Given the description of an element on the screen output the (x, y) to click on. 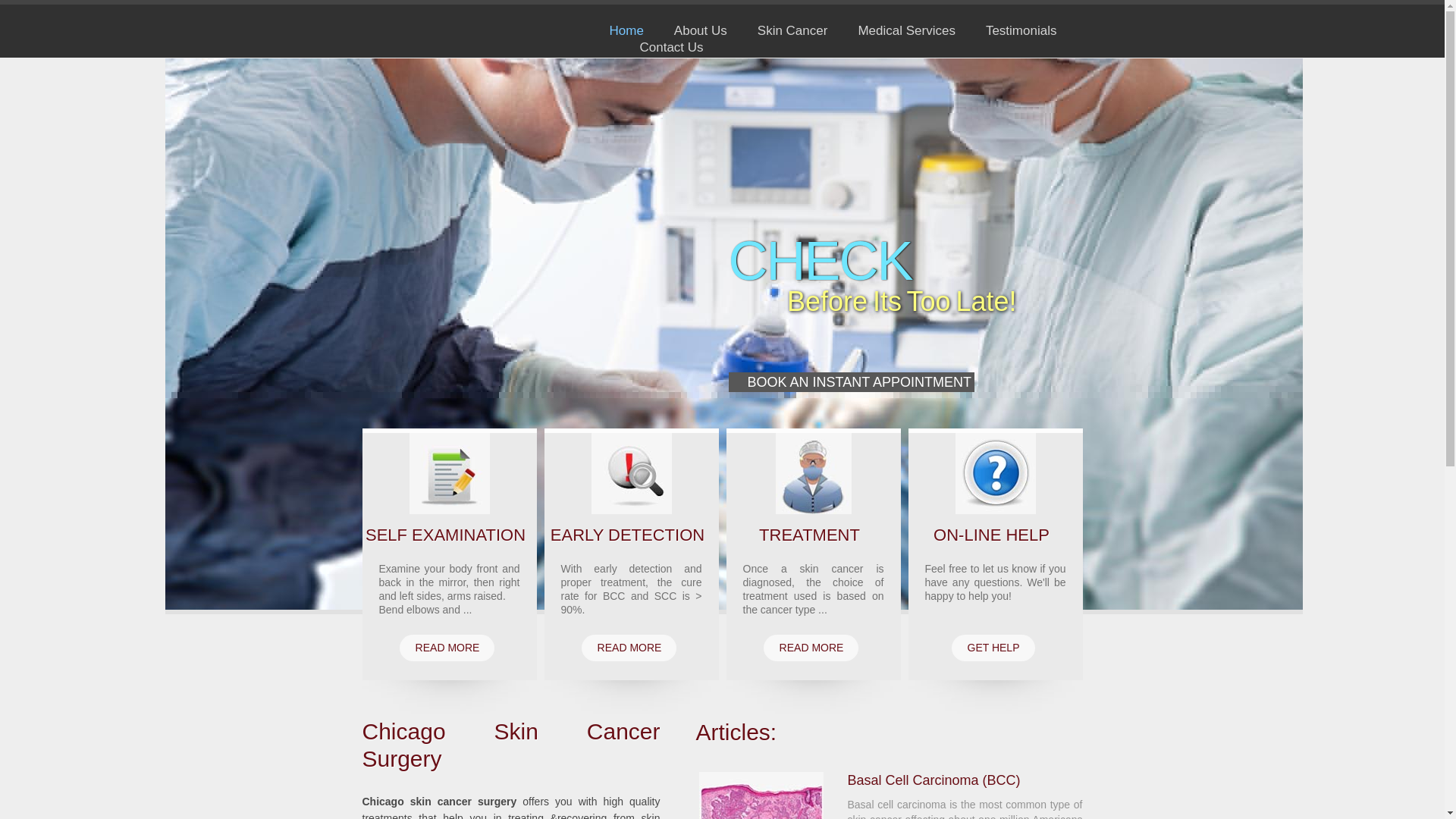
Medical Services (906, 30)
READ MORE (628, 647)
Testimonials (1021, 30)
READ MORE (810, 647)
Skin Cancer (792, 30)
About Us (700, 30)
Home (626, 30)
BOOK AN INSTANT APPOINTMENT (851, 382)
Chicago Skin Cancer Surgery (470, 31)
READ MORE (446, 647)
Contact Us (671, 47)
GET HELP (991, 647)
